Given the description of an element on the screen output the (x, y) to click on. 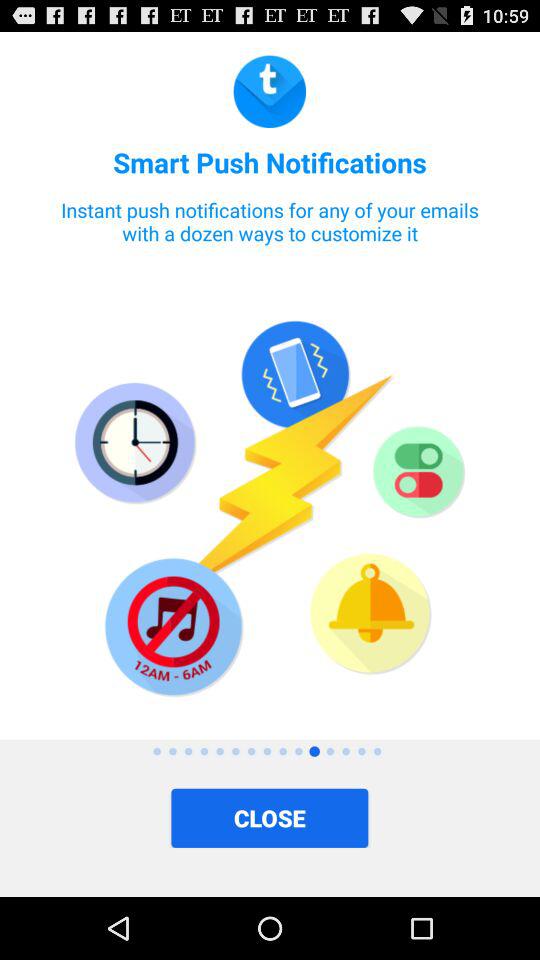
swipe until the close (269, 817)
